Given the description of an element on the screen output the (x, y) to click on. 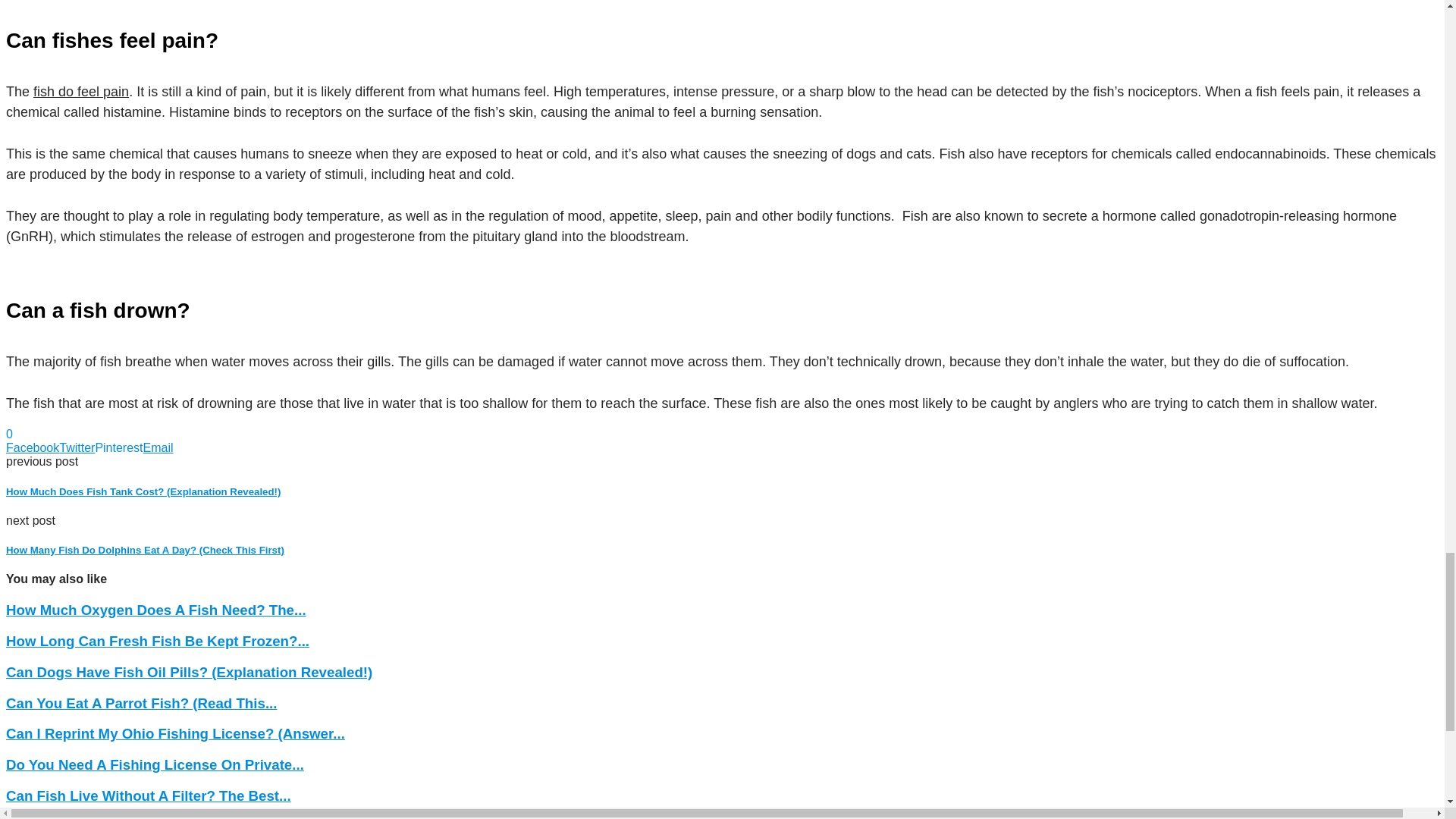
Facebook (32, 447)
Twitter (76, 447)
Pinterest (118, 447)
Email (157, 447)
